Given the description of an element on the screen output the (x, y) to click on. 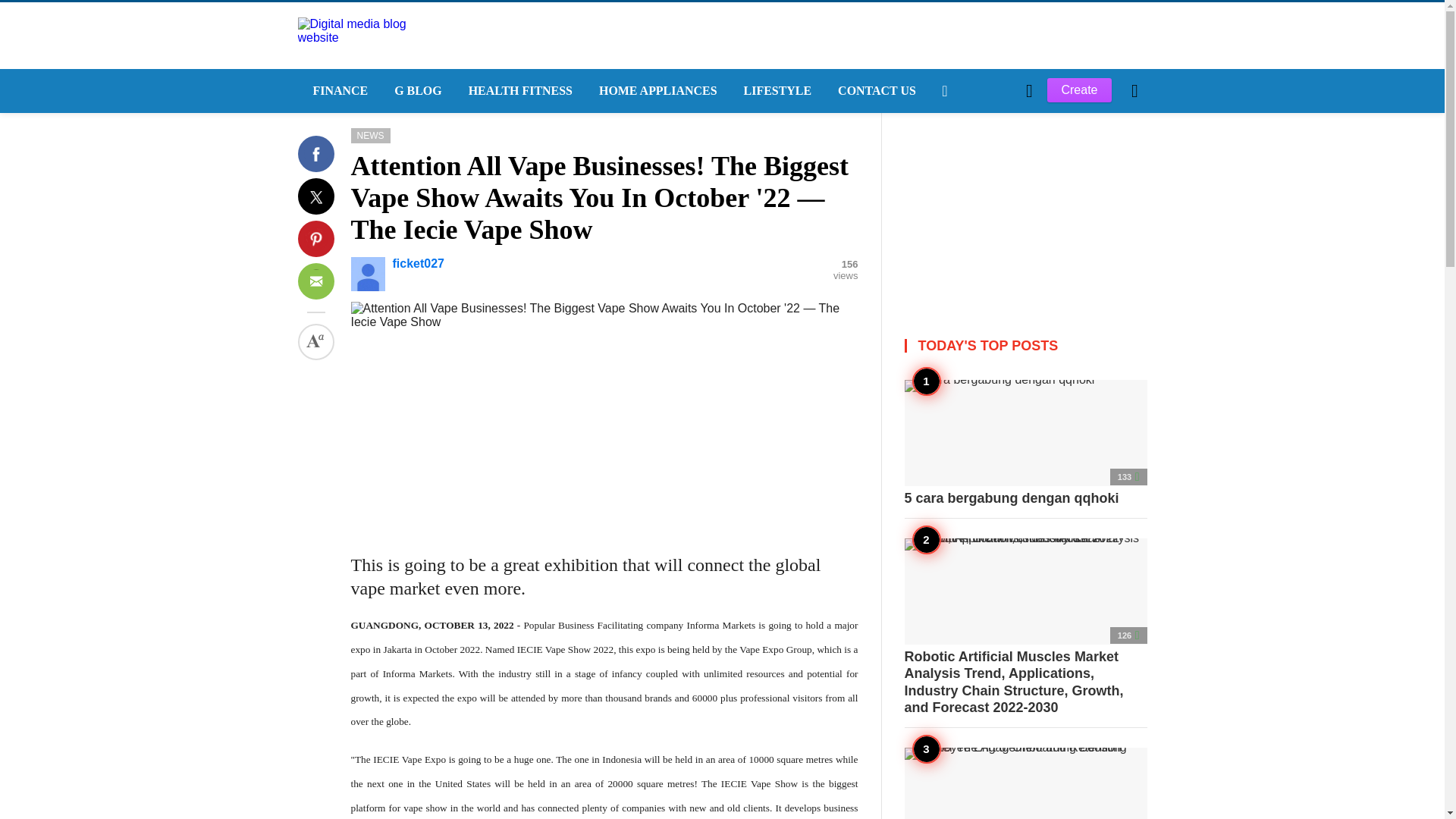
CONTACT US (874, 90)
Advertisement (1025, 207)
5 cara bergabung dengan qqhoki (1025, 443)
sign up (964, 347)
Log in (962, 347)
G BLOG (415, 90)
HOME APPLIANCES (656, 90)
FINANCE (337, 90)
Advertisement (603, 435)
LIFESTYLE (776, 90)
HEALTH FITNESS (517, 90)
